Given the description of an element on the screen output the (x, y) to click on. 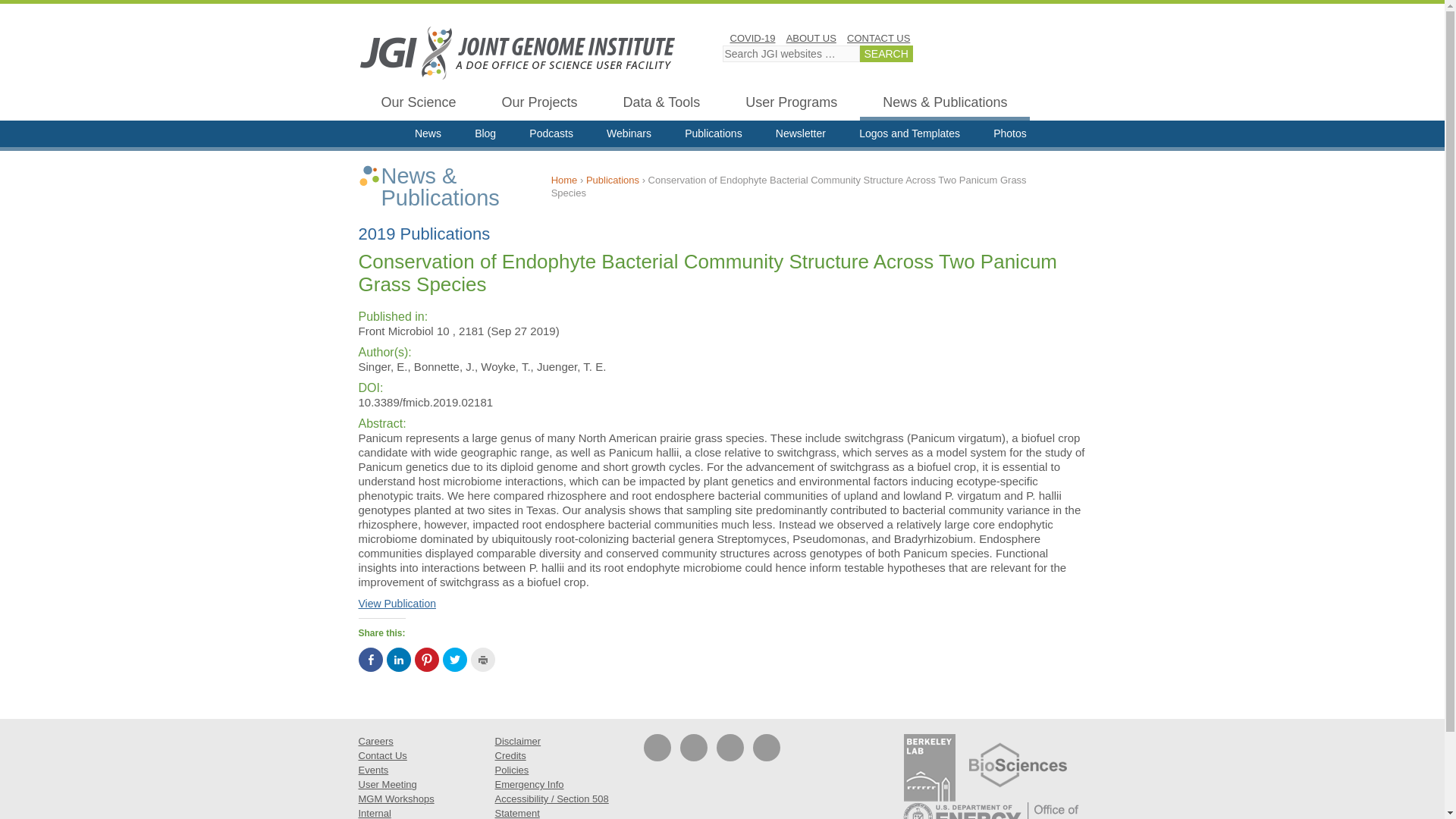
ABOUT US (810, 38)
COVID-19 (751, 38)
Click to share on Pinterest (425, 659)
Click to share on Facebook (369, 659)
Search (886, 53)
CONTACT US (878, 38)
Click to share on LinkedIn (398, 659)
Click to share on Twitter (454, 659)
DOE Joint Genome Institute (517, 52)
Click to print (482, 659)
Our Projects (539, 104)
Our Science (418, 104)
Search (886, 53)
